Given the description of an element on the screen output the (x, y) to click on. 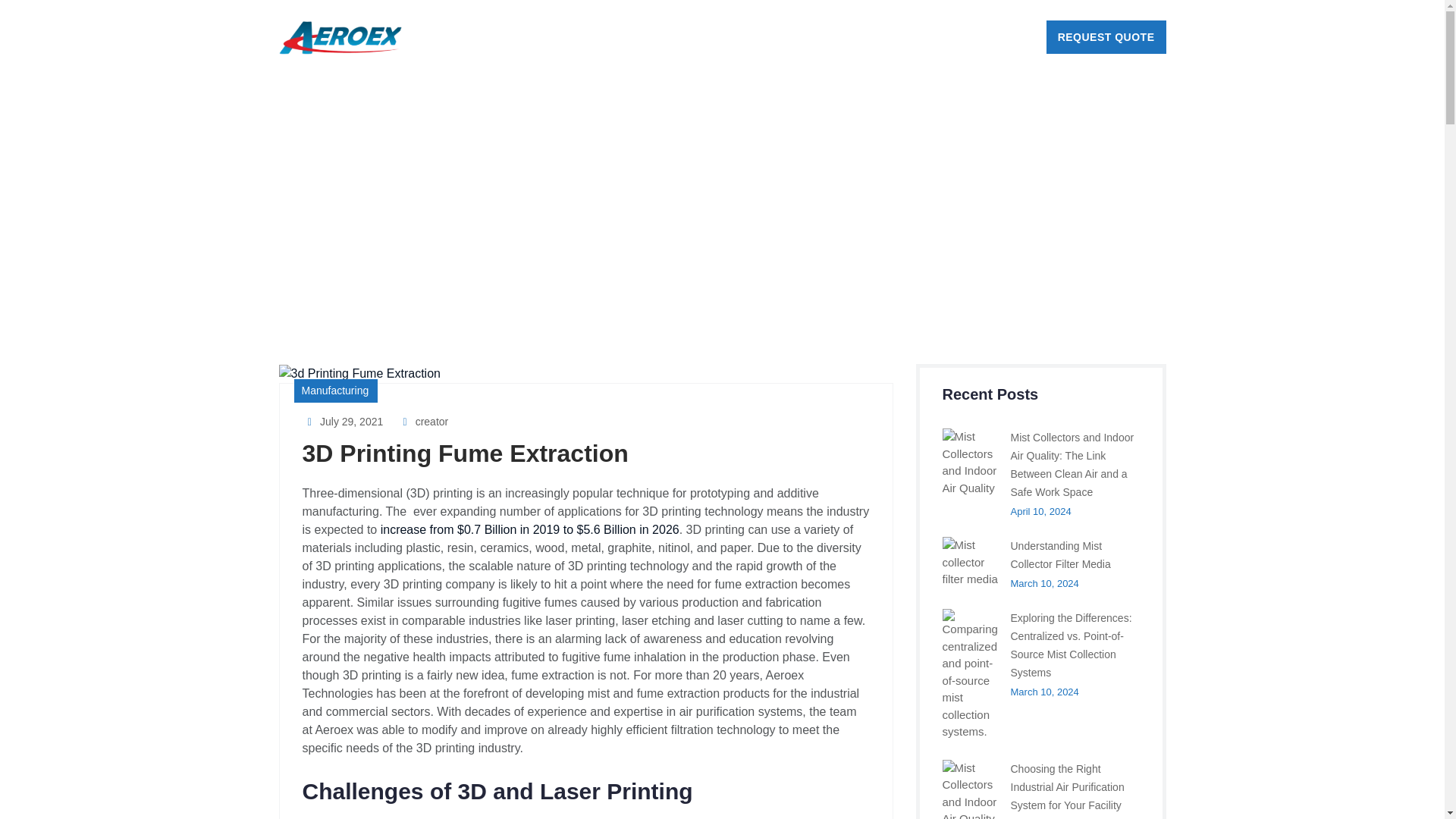
3D Printing Fume Extraction (464, 452)
Posted by creator (422, 421)
Manufacturing (335, 390)
creator (422, 421)
Aeroex Technologies (341, 38)
CONTACT US (976, 38)
Air Purification (335, 390)
APPLICATIONS (793, 38)
July 29, 2021 (341, 421)
TECHNOLOGY (693, 38)
REQUEST QUOTE (1106, 37)
